Given the description of an element on the screen output the (x, y) to click on. 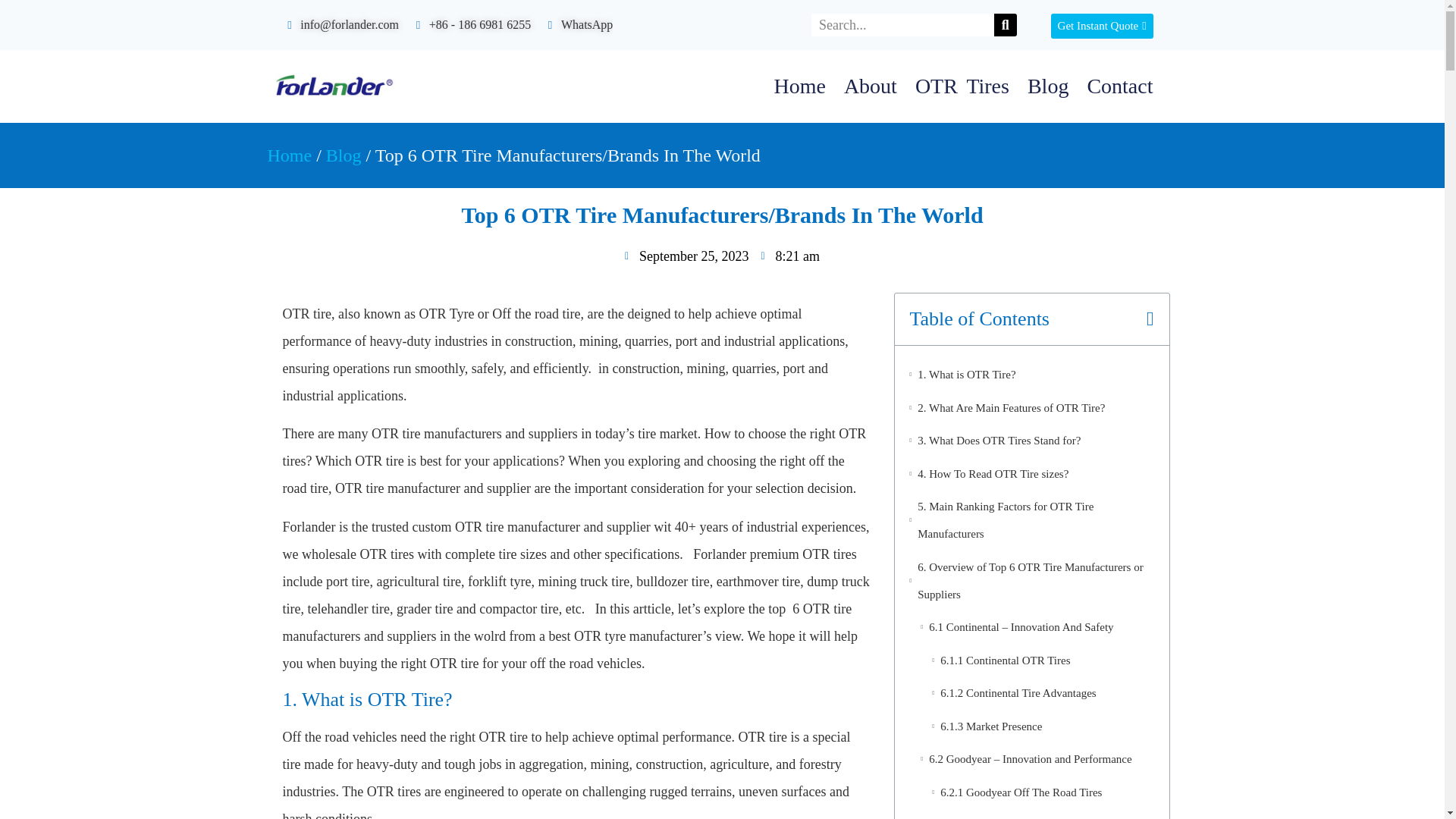
2. What Are Main Features of OTR Tire? (1011, 407)
3. What Does OTR Tires Stand for? (998, 440)
September 25, 2023 (686, 256)
Home (288, 155)
OTR Tires (961, 86)
About (869, 86)
6.1.2 Continental Tire Advantages (1018, 692)
5. Main Ranking Factors for OTR Tire Manufacturers (1035, 520)
Home (799, 86)
1. What is OTR Tire? (965, 374)
